Given the description of an element on the screen output the (x, y) to click on. 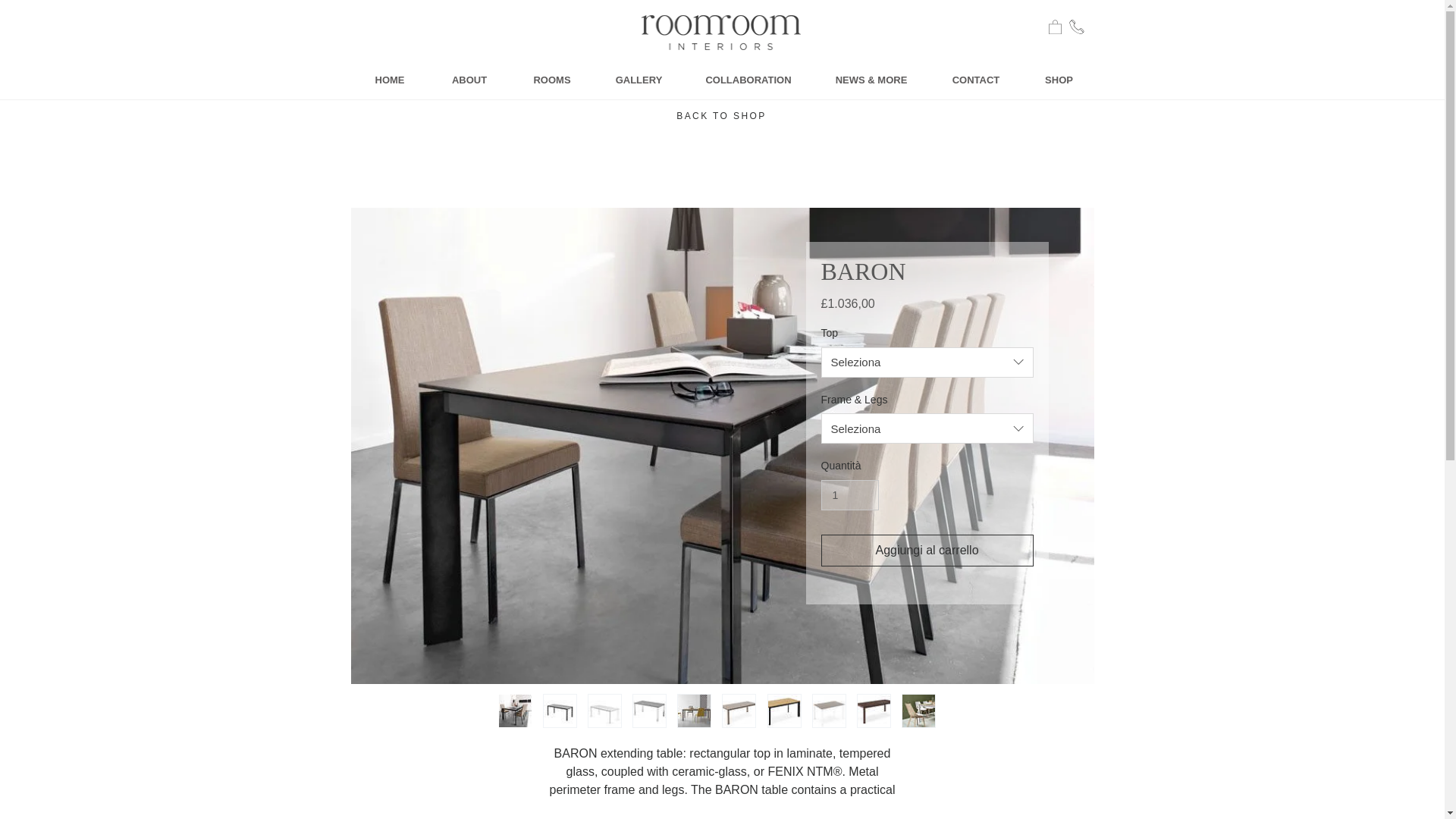
1 (849, 495)
Seleziona (926, 428)
BACK TO SHOP (722, 111)
Aggiungi al carrello (926, 550)
HOME (389, 79)
SHOP (1058, 79)
CONTACT (976, 79)
Seleziona (926, 362)
ABOUT (470, 79)
COLLABORATION (748, 79)
GALLERY (639, 79)
ROOMS (551, 79)
